Given the description of an element on the screen output the (x, y) to click on. 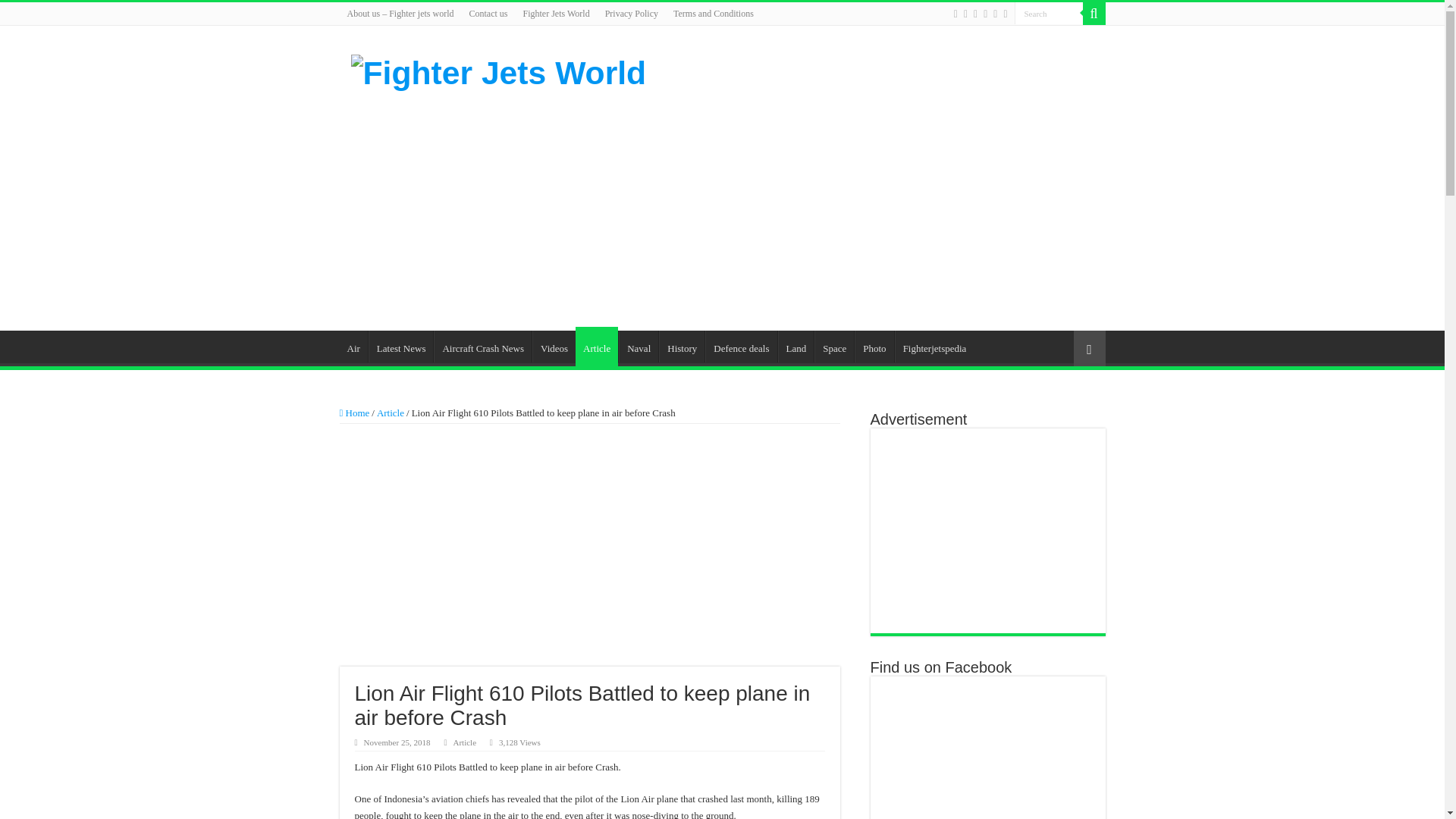
Article (596, 346)
Privacy Policy (630, 13)
Aircraft Crash News (482, 346)
Search (1048, 13)
Videos (553, 346)
Latest News (400, 346)
Naval (638, 346)
Search (1094, 13)
Contact us (488, 13)
Terms and Conditions (713, 13)
